Given the description of an element on the screen output the (x, y) to click on. 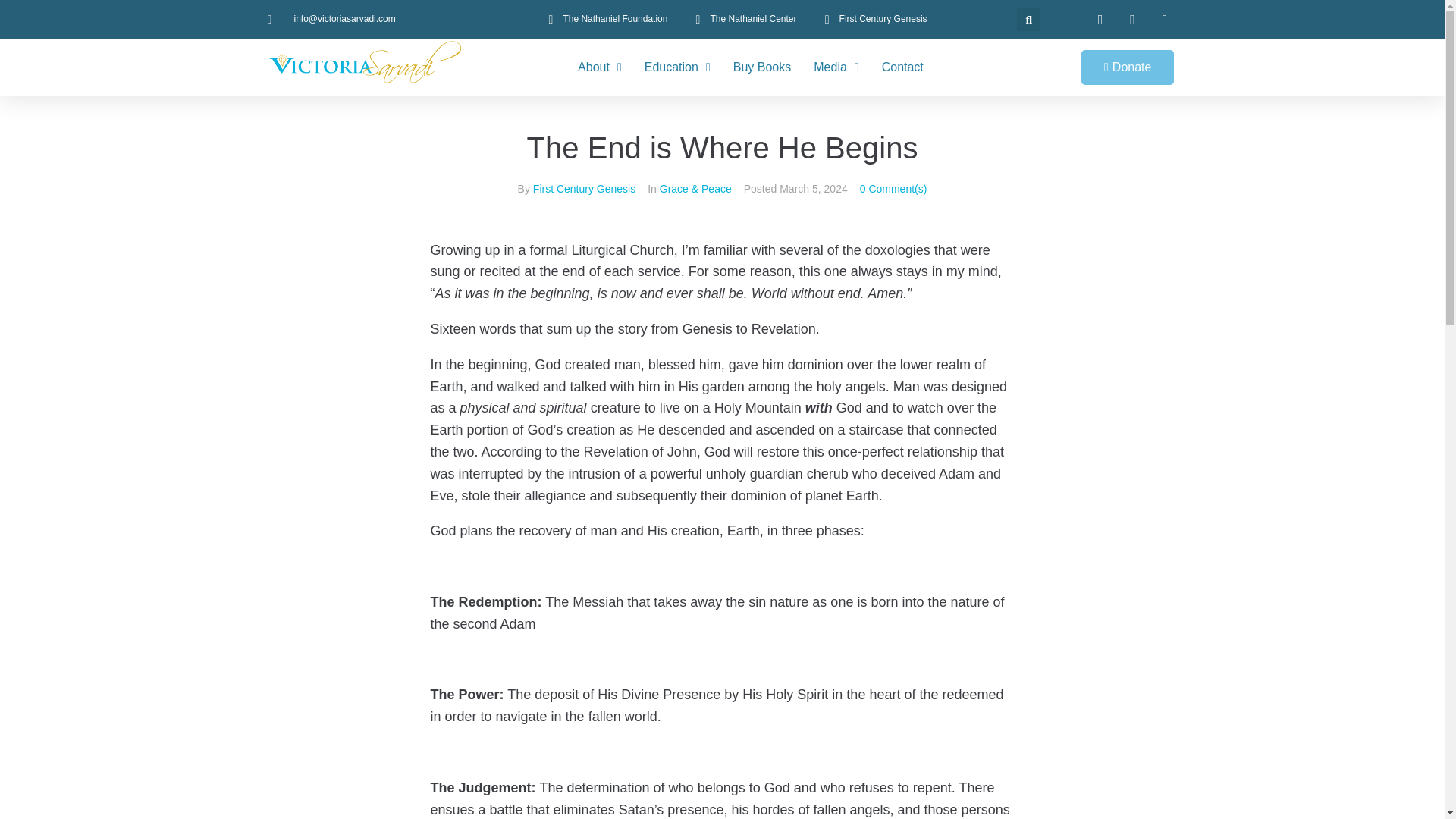
Education (677, 67)
About (599, 67)
Media (836, 67)
The Nathaniel Foundation (604, 19)
First Century Genesis (873, 19)
Buy Books (761, 67)
The Nathaniel Center (743, 19)
